Given the description of an element on the screen output the (x, y) to click on. 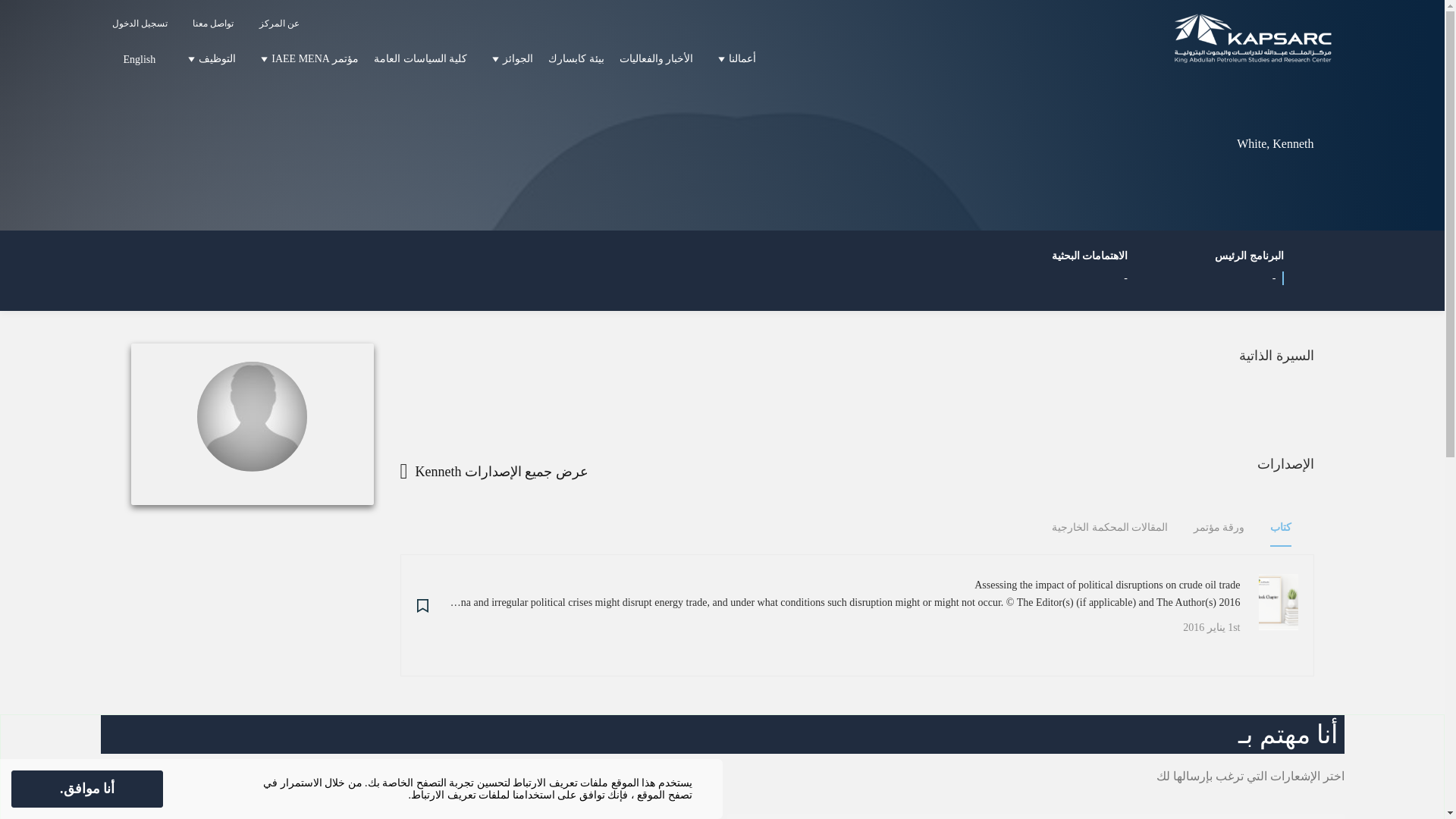
English (135, 58)
